Given the description of an element on the screen output the (x, y) to click on. 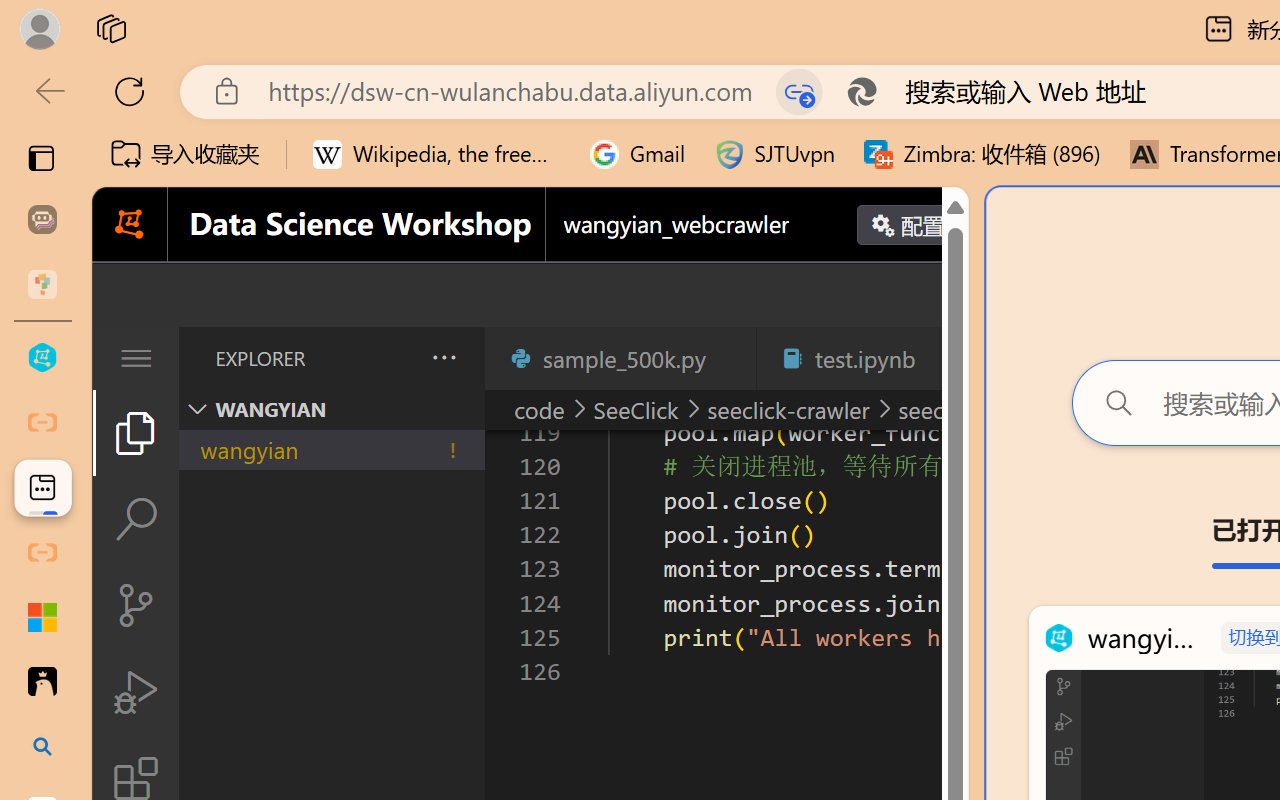
Close (Ctrl+F4) (946, 358)
test.ipynb (864, 358)
Source Control (Ctrl+Shift+G) (135, 604)
Explorer Section: wangyian (331, 409)
wangyian_dsw - DSW (42, 357)
Gmail (637, 154)
